Given the description of an element on the screen output the (x, y) to click on. 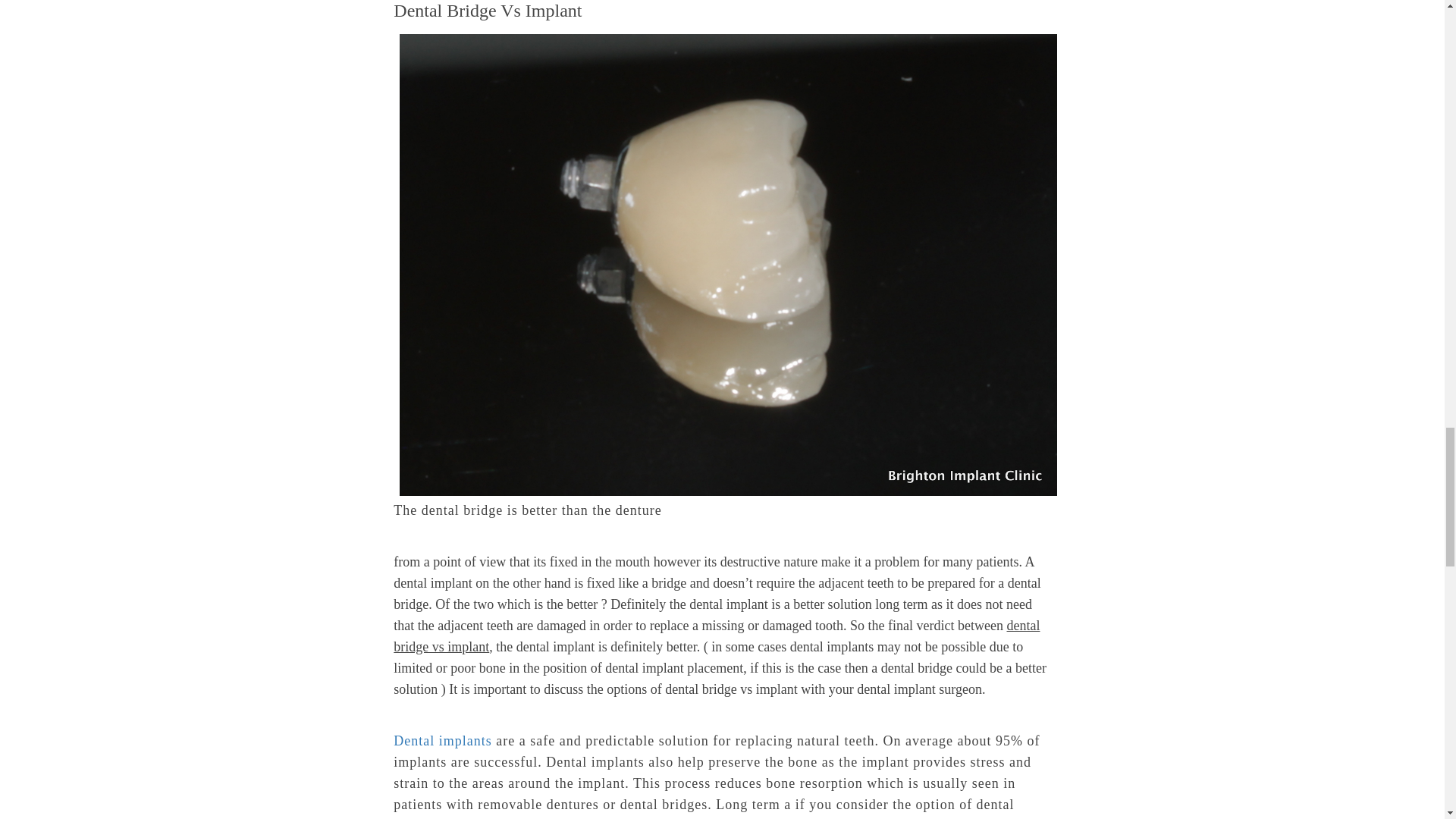
Dental implants (442, 740)
